Given the description of an element on the screen output the (x, y) to click on. 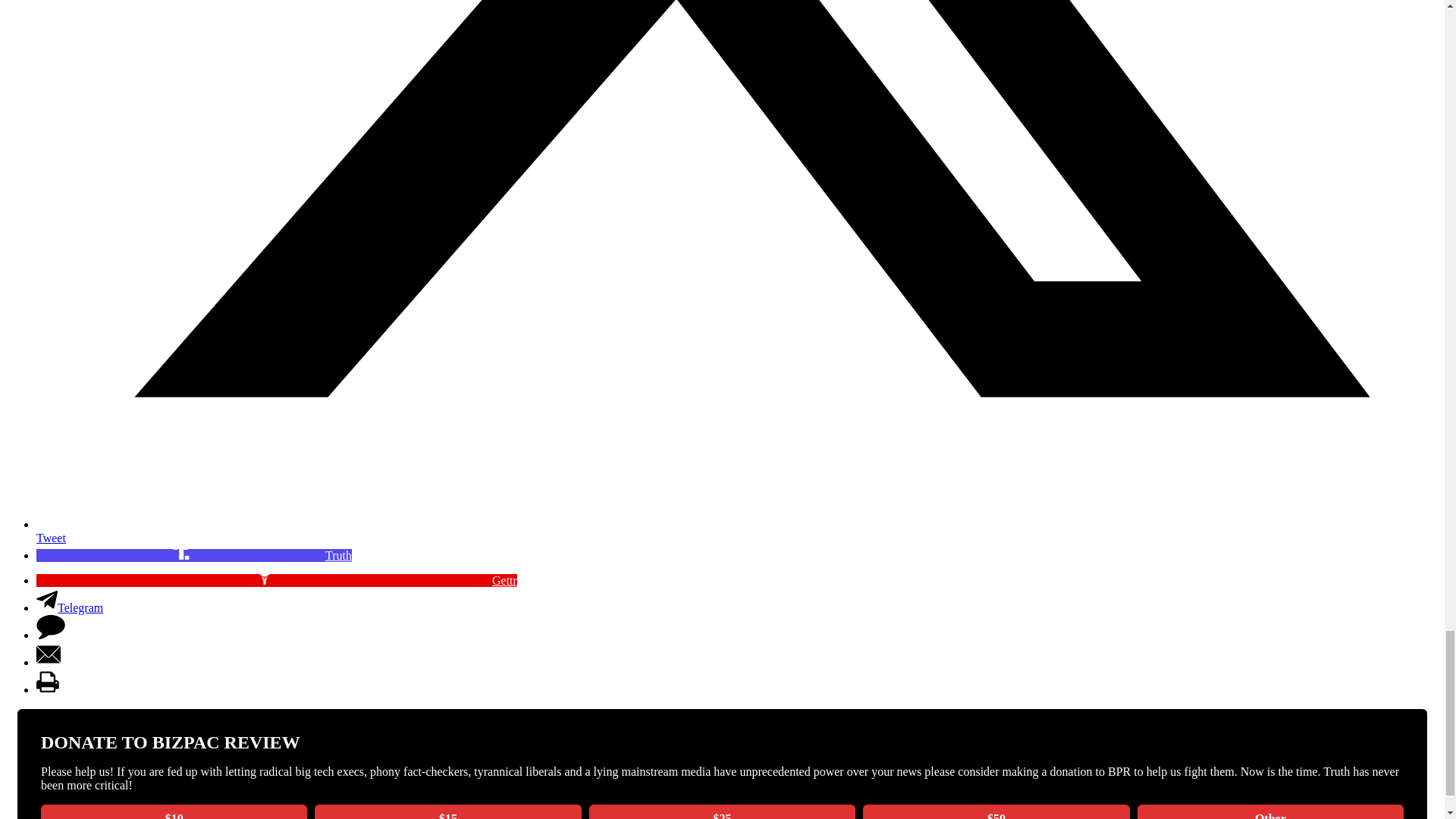
Truth (194, 554)
Share on Gettr (276, 580)
Gettr (276, 580)
Share on Telegram (69, 607)
Telegram (69, 607)
Share on Truth (194, 554)
